Given the description of an element on the screen output the (x, y) to click on. 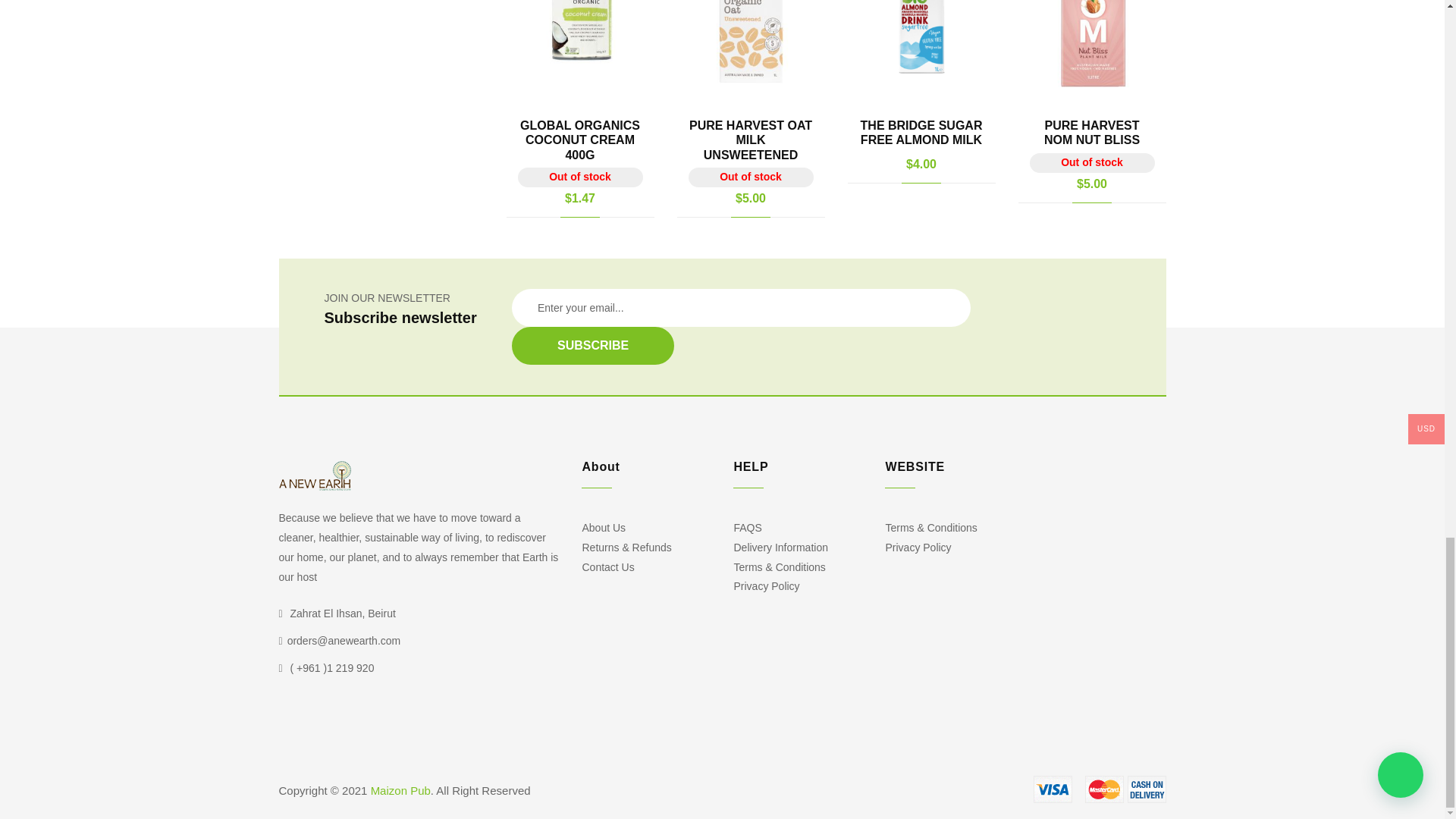
Cash on Delivery (1146, 789)
Master Card (1104, 789)
VISA (1052, 789)
SUBSCRIBE (593, 345)
